Given the description of an element on the screen output the (x, y) to click on. 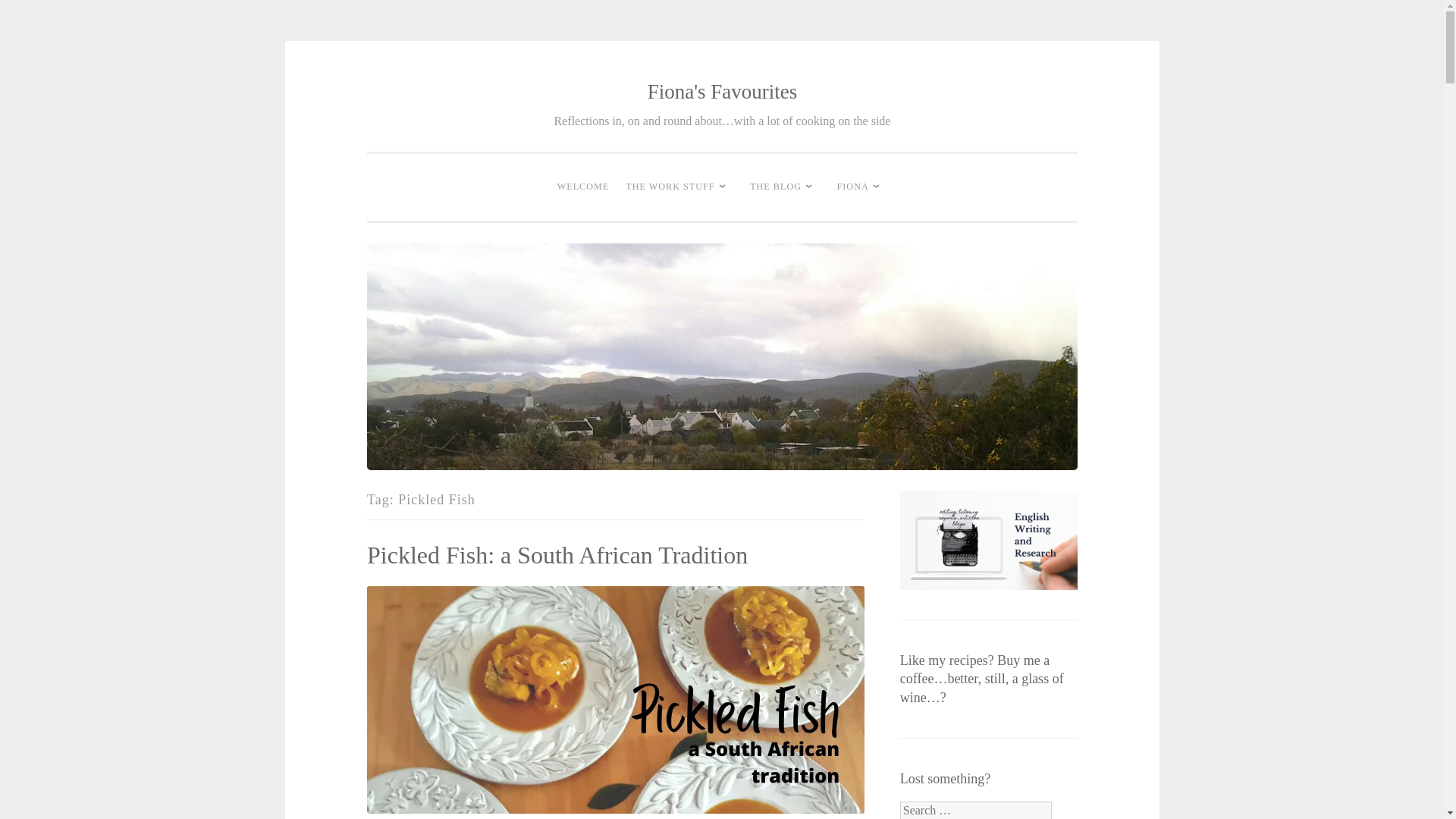
FIONA (862, 186)
WELCOME (582, 186)
THE BLOG (784, 186)
Fiona's Favourites (722, 91)
Pickled Fish: a South African Tradition (557, 554)
THE WORK STUFF (678, 186)
